Given the description of an element on the screen output the (x, y) to click on. 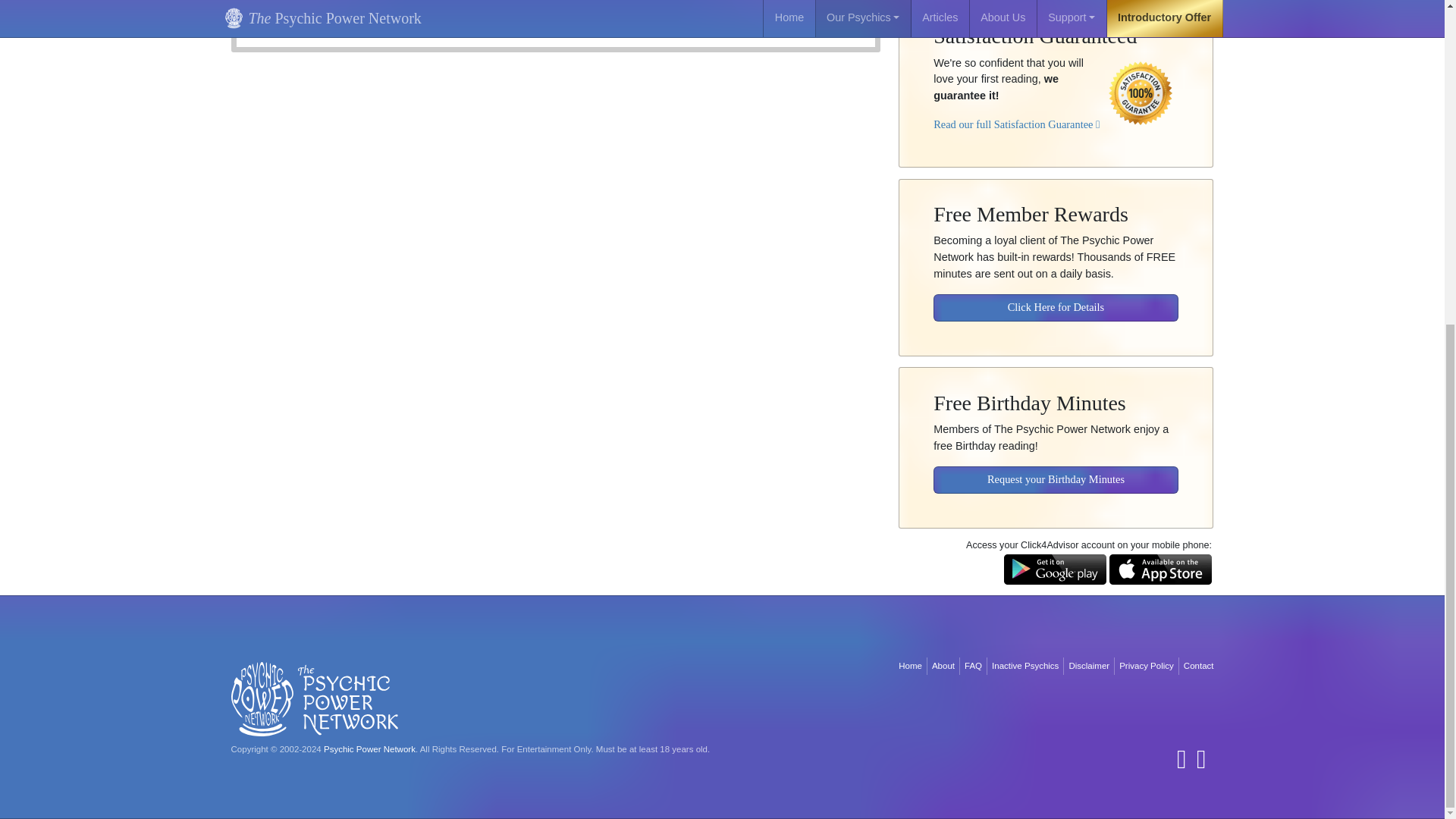
Request your Birthday Minutes (1055, 469)
Click Here for Details (1055, 297)
Home (909, 665)
Read our full Satisfaction Guarantee  (1016, 113)
